Given the description of an element on the screen output the (x, y) to click on. 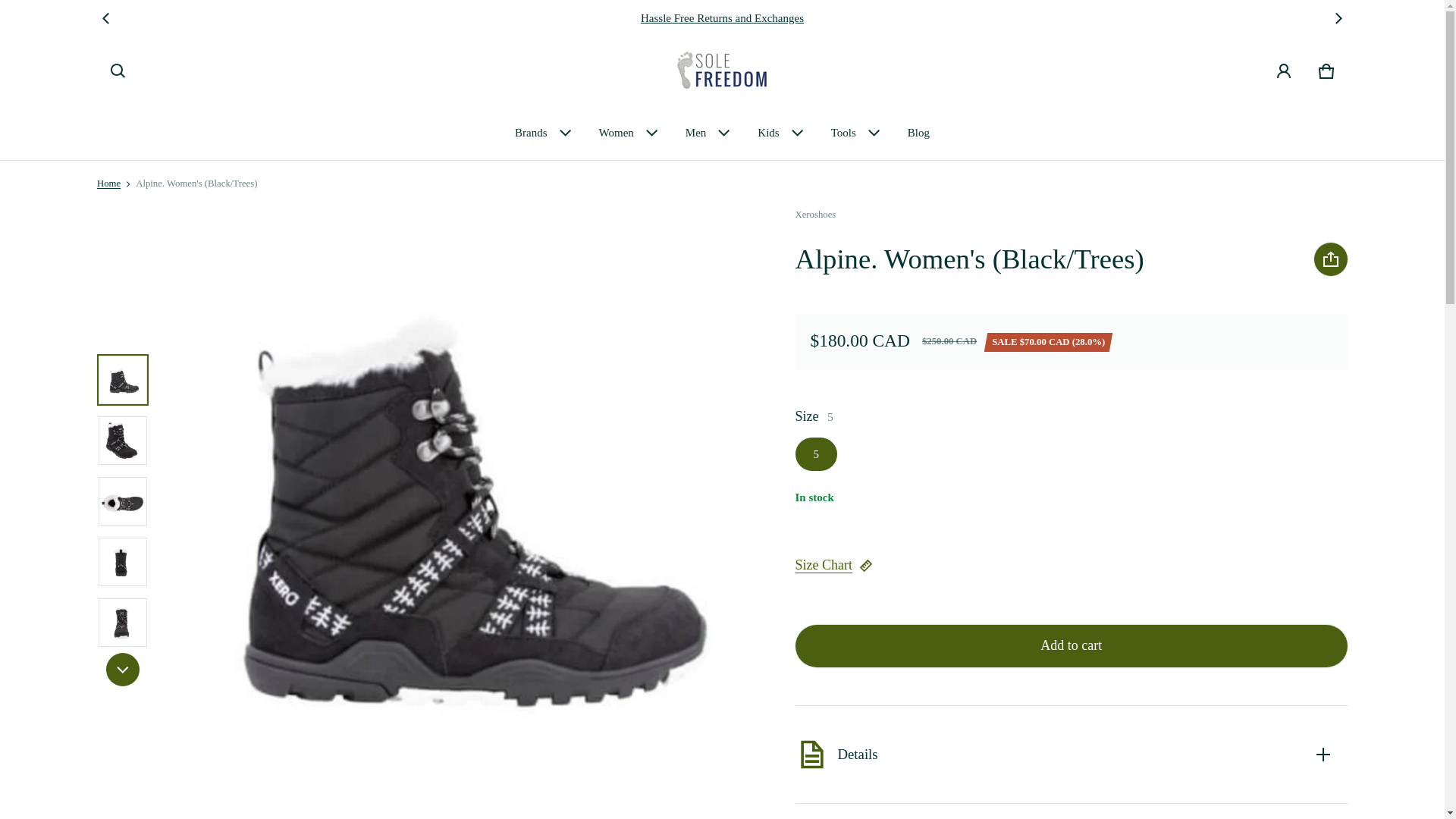
Hassle Free Returns and Exchanges (721, 18)
Hassle Free Returns and Exchanges (721, 18)
